Given the description of an element on the screen output the (x, y) to click on. 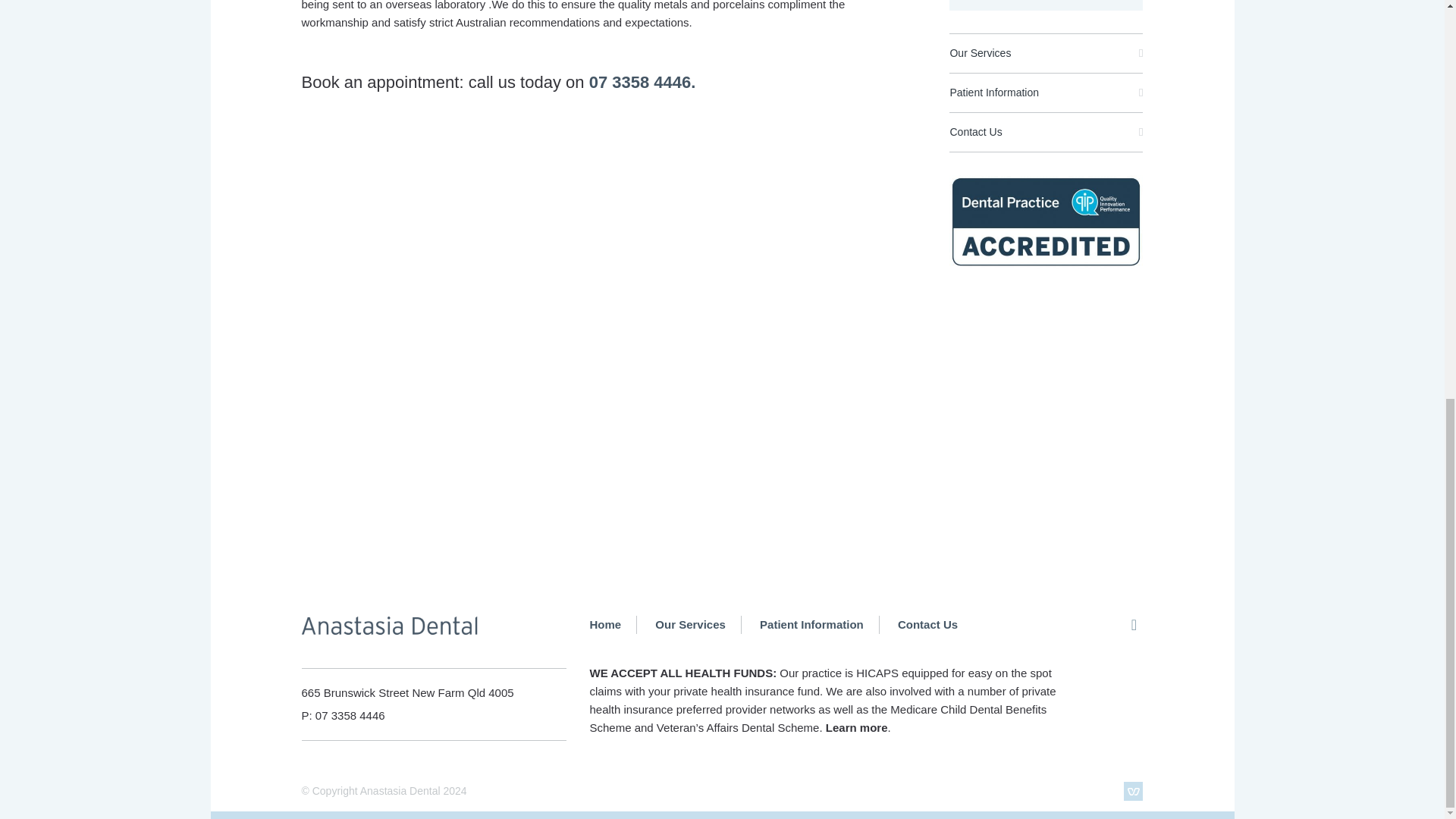
phone (350, 715)
Anastasia Dental (389, 624)
back to top (1133, 624)
